Given the description of an element on the screen output the (x, y) to click on. 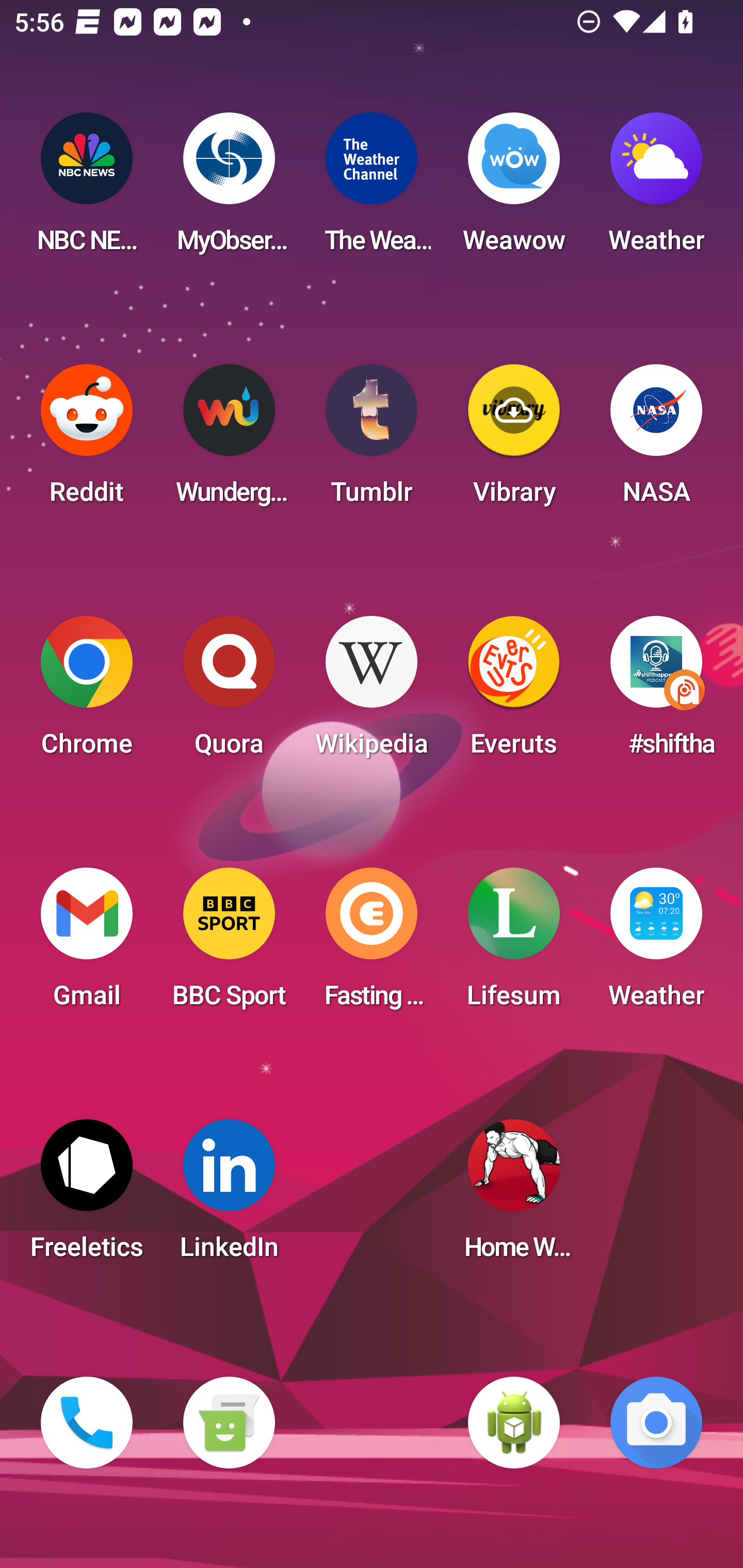
NBC NEWS (86, 188)
MyObservatory (228, 188)
The Weather Channel (371, 188)
Weawow (513, 188)
Weather (656, 188)
Reddit (86, 440)
Wunderground (228, 440)
Tumblr (371, 440)
Vibrary (513, 440)
NASA (656, 440)
Chrome (86, 692)
Quora (228, 692)
Wikipedia (371, 692)
Everuts (513, 692)
#shifthappens in the Digital Workplace Podcast (656, 692)
Gmail (86, 943)
BBC Sport (228, 943)
Fasting Coach (371, 943)
Lifesum (513, 943)
Weather (656, 943)
Freeletics (86, 1195)
LinkedIn (228, 1195)
Home Workout (513, 1195)
Phone (86, 1422)
Messaging (228, 1422)
WebView Browser Tester (513, 1422)
Camera (656, 1422)
